Given the description of an element on the screen output the (x, y) to click on. 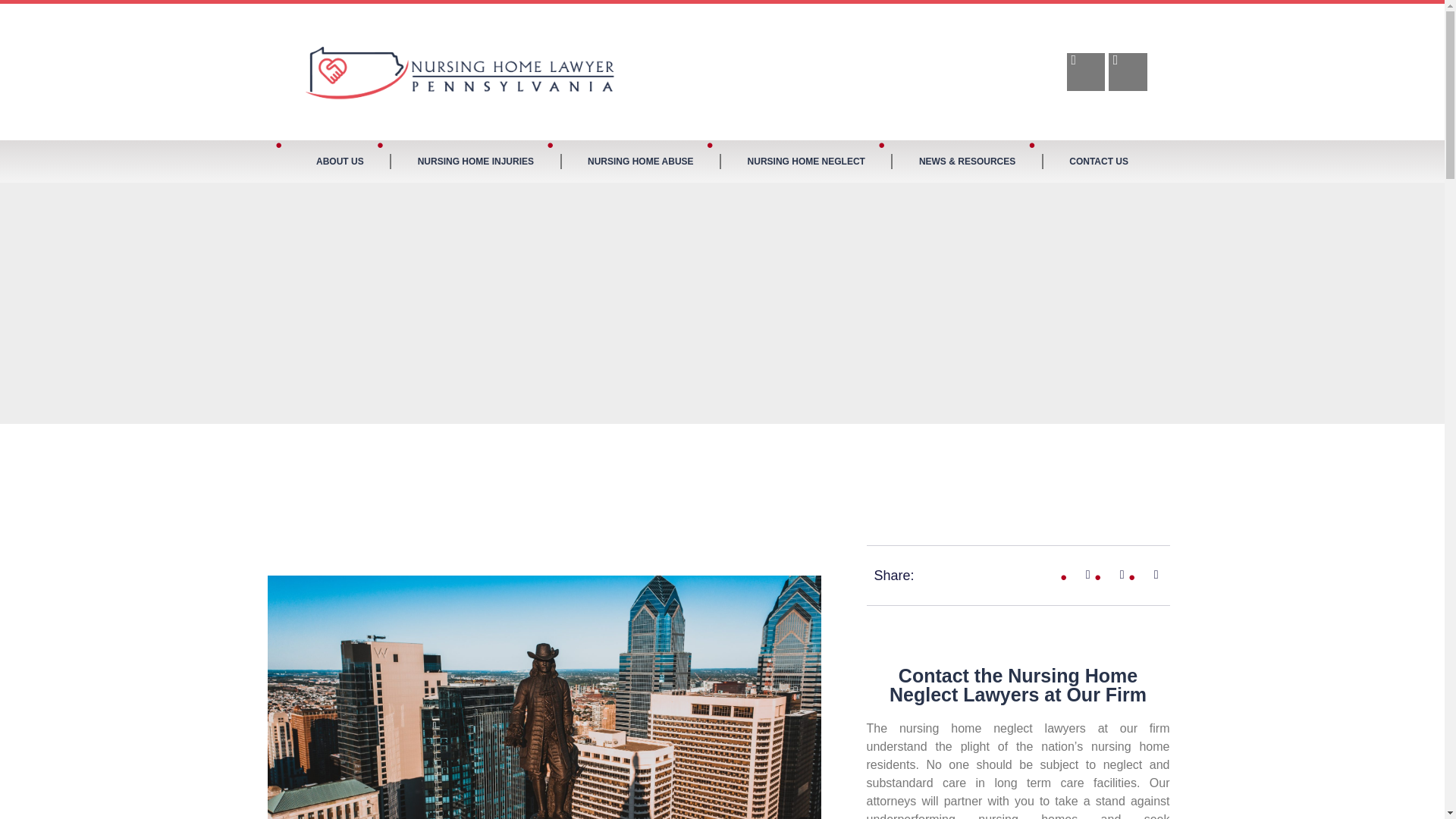
ABOUT US (339, 161)
NURSING HOME ABUSE (639, 161)
NURSING HOME NEGLECT (805, 161)
NURSING HOME INJURIES (475, 161)
CONTACT US (1098, 161)
